Given the description of an element on the screen output the (x, y) to click on. 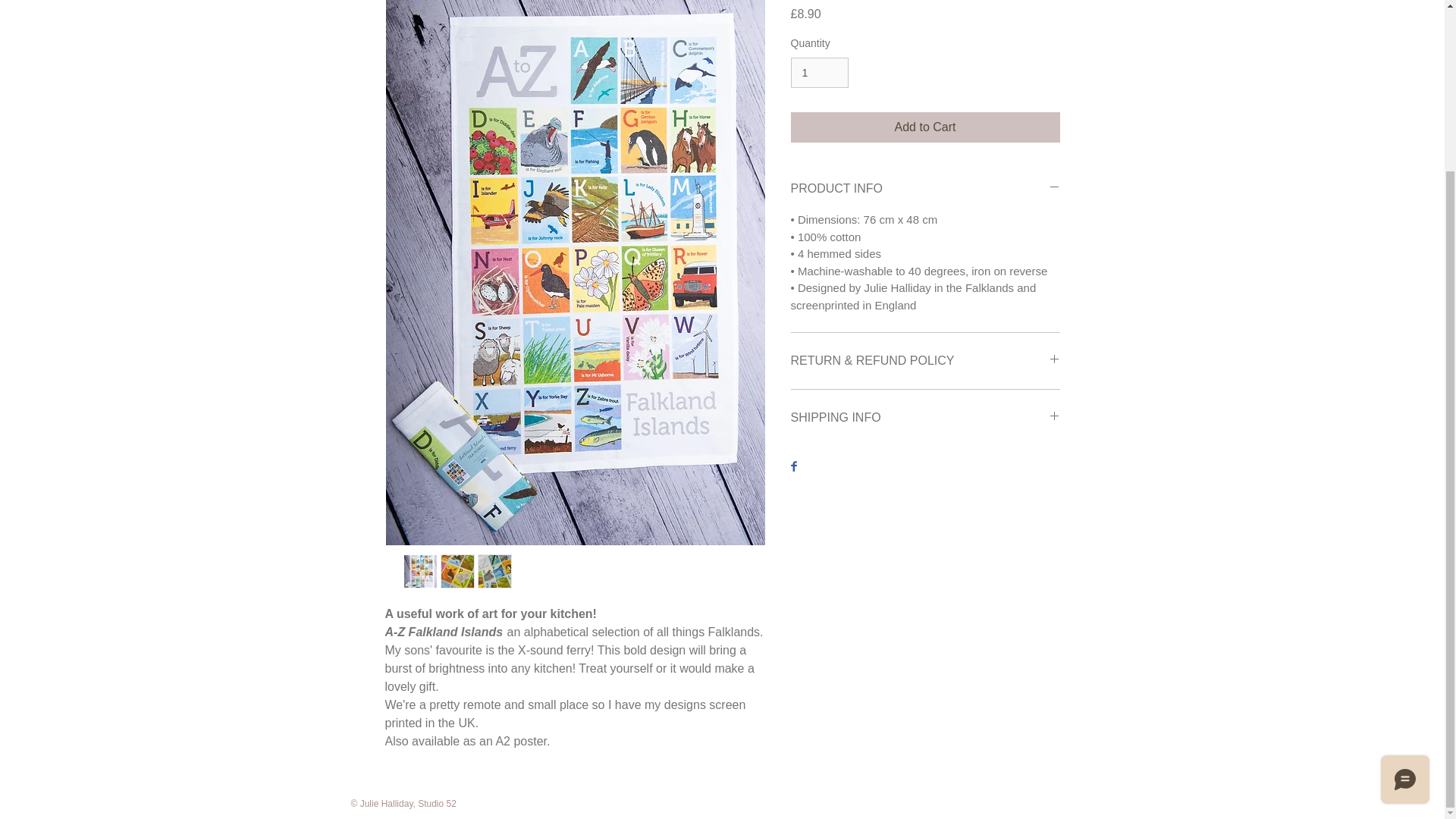
SHIPPING INFO (924, 417)
Add to Cart (924, 127)
PRODUCT INFO (924, 189)
1 (818, 72)
